Given the description of an element on the screen output the (x, y) to click on. 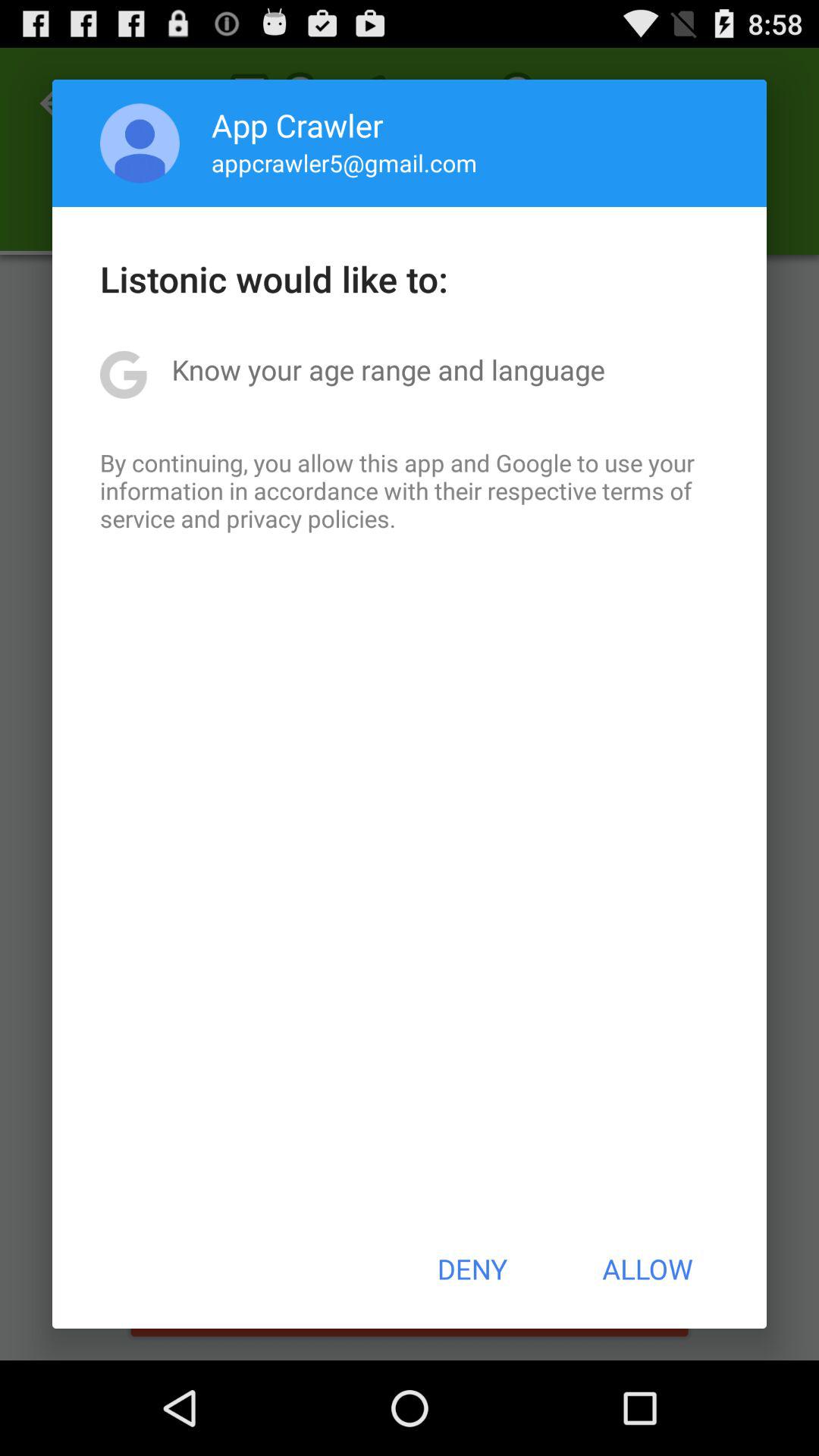
choose the icon above by continuing you item (388, 369)
